Given the description of an element on the screen output the (x, y) to click on. 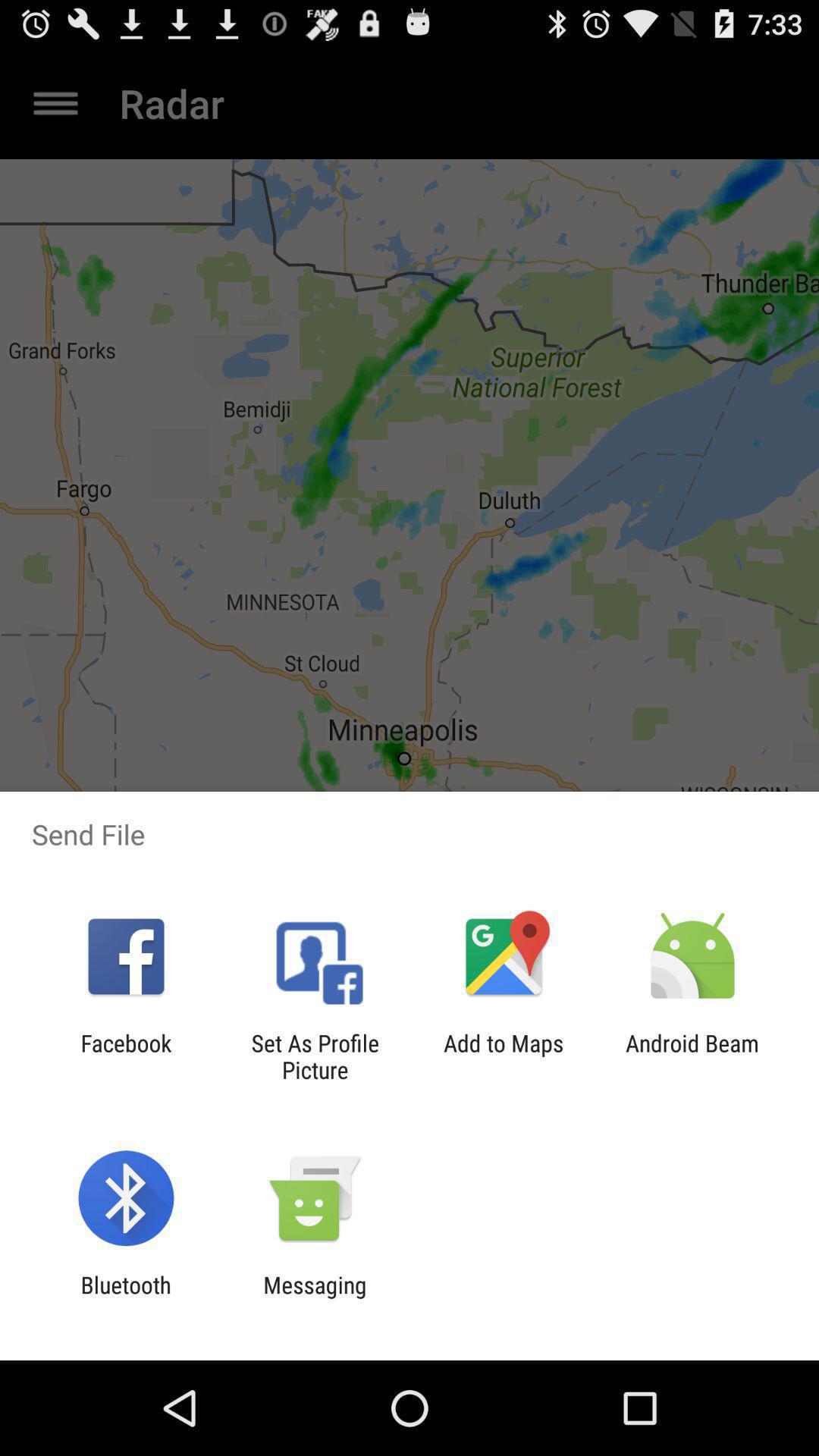
select the item next to add to maps icon (692, 1056)
